Given the description of an element on the screen output the (x, y) to click on. 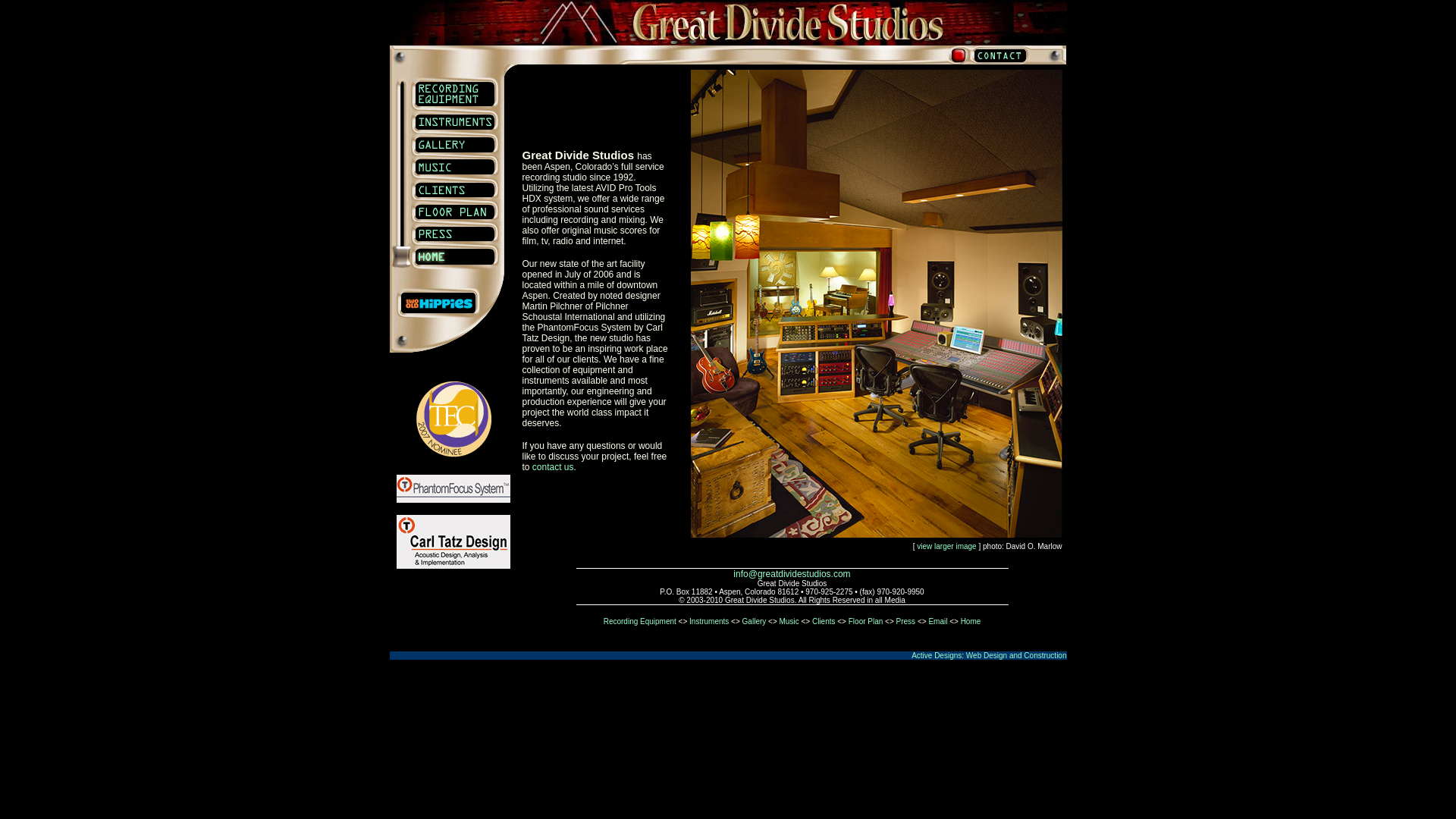
contact us (552, 466)
Email (937, 621)
Gallery (754, 621)
Music (788, 621)
Clients (823, 621)
Home (970, 621)
Recording Equipment (640, 621)
Press (905, 621)
Instruments (708, 621)
Click on photo or link below to see larger image. (875, 533)
Floor Plan (865, 621)
view larger image (946, 546)
Active Designs: Web Design and Construction (988, 655)
